Given the description of an element on the screen output the (x, y) to click on. 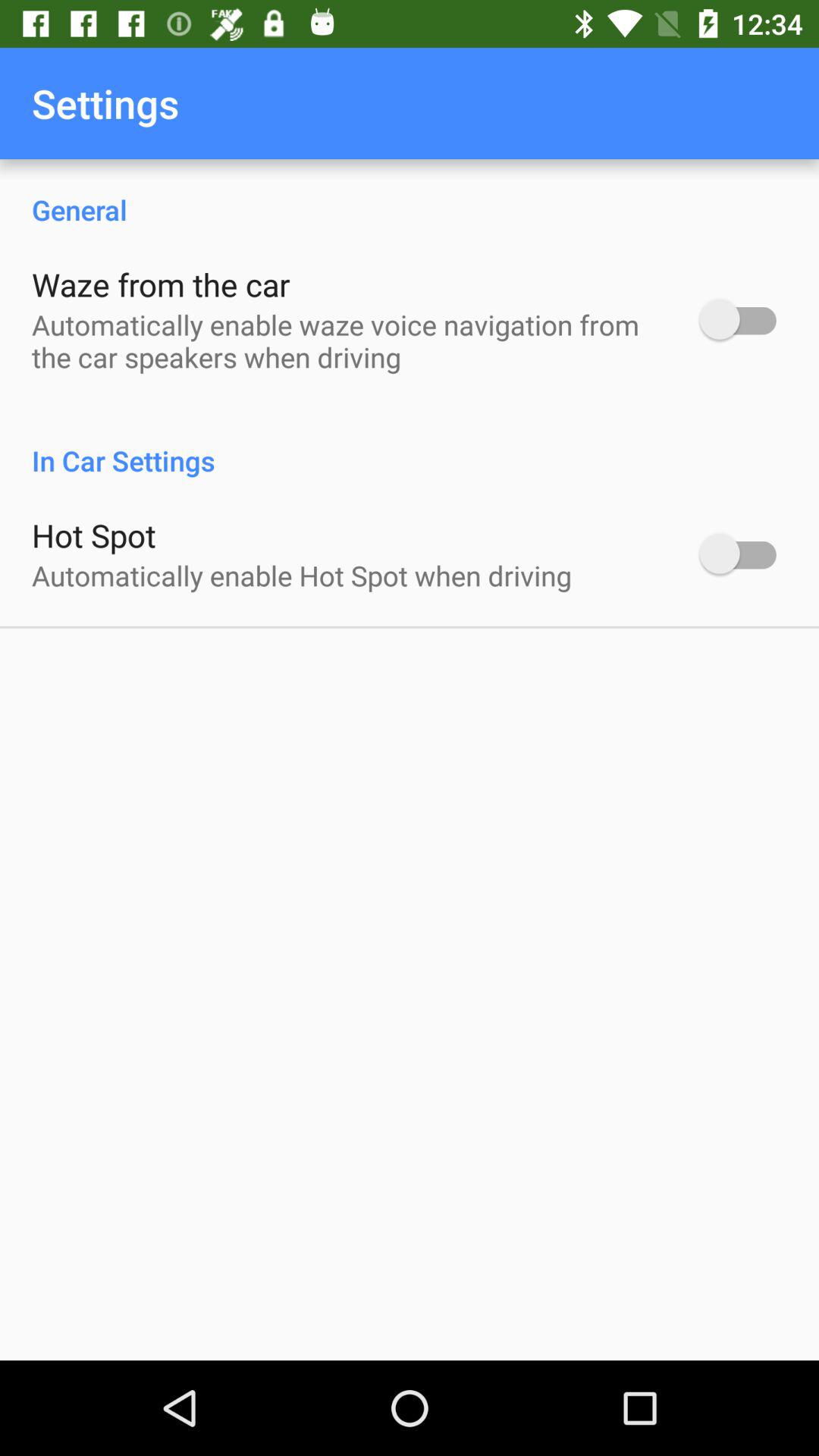
turn on item above waze from the (409, 193)
